Given the description of an element on the screen output the (x, y) to click on. 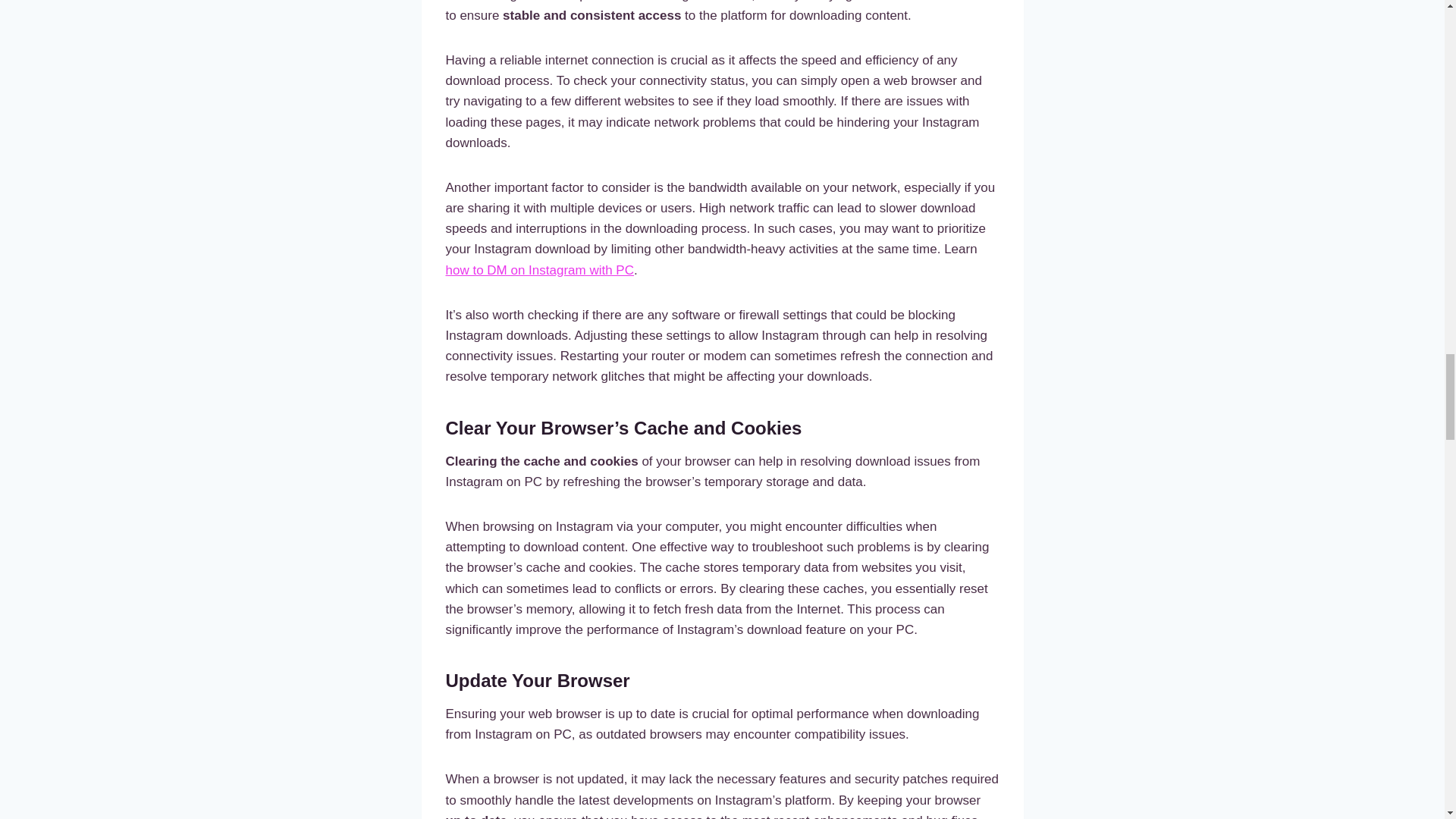
how to DM on Instagram with PC (539, 269)
